Given the description of an element on the screen output the (x, y) to click on. 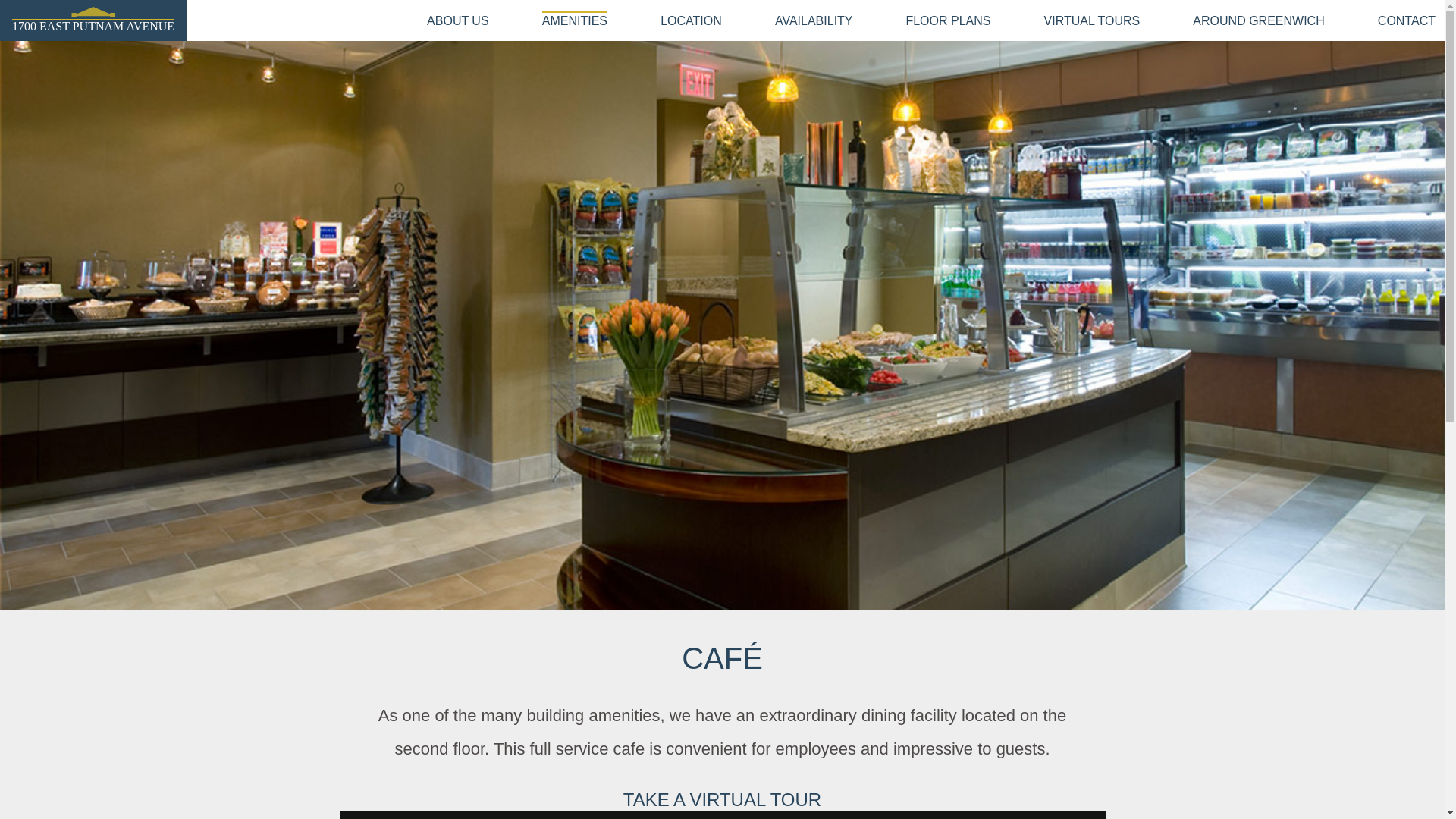
CONTACT Element type: text (1406, 20)
AMENITIES Element type: text (574, 19)
ABOUT US Element type: text (457, 20)
AVAILABILITY Element type: text (813, 20)
1700 EAST PUTNAM AVENUE Element type: text (93, 25)
VIRTUAL TOURS Element type: text (1092, 20)
AROUND GREENWICH Element type: text (1258, 20)
LOCATION Element type: text (690, 20)
FLOOR PLANS Element type: text (947, 20)
